Given the description of an element on the screen output the (x, y) to click on. 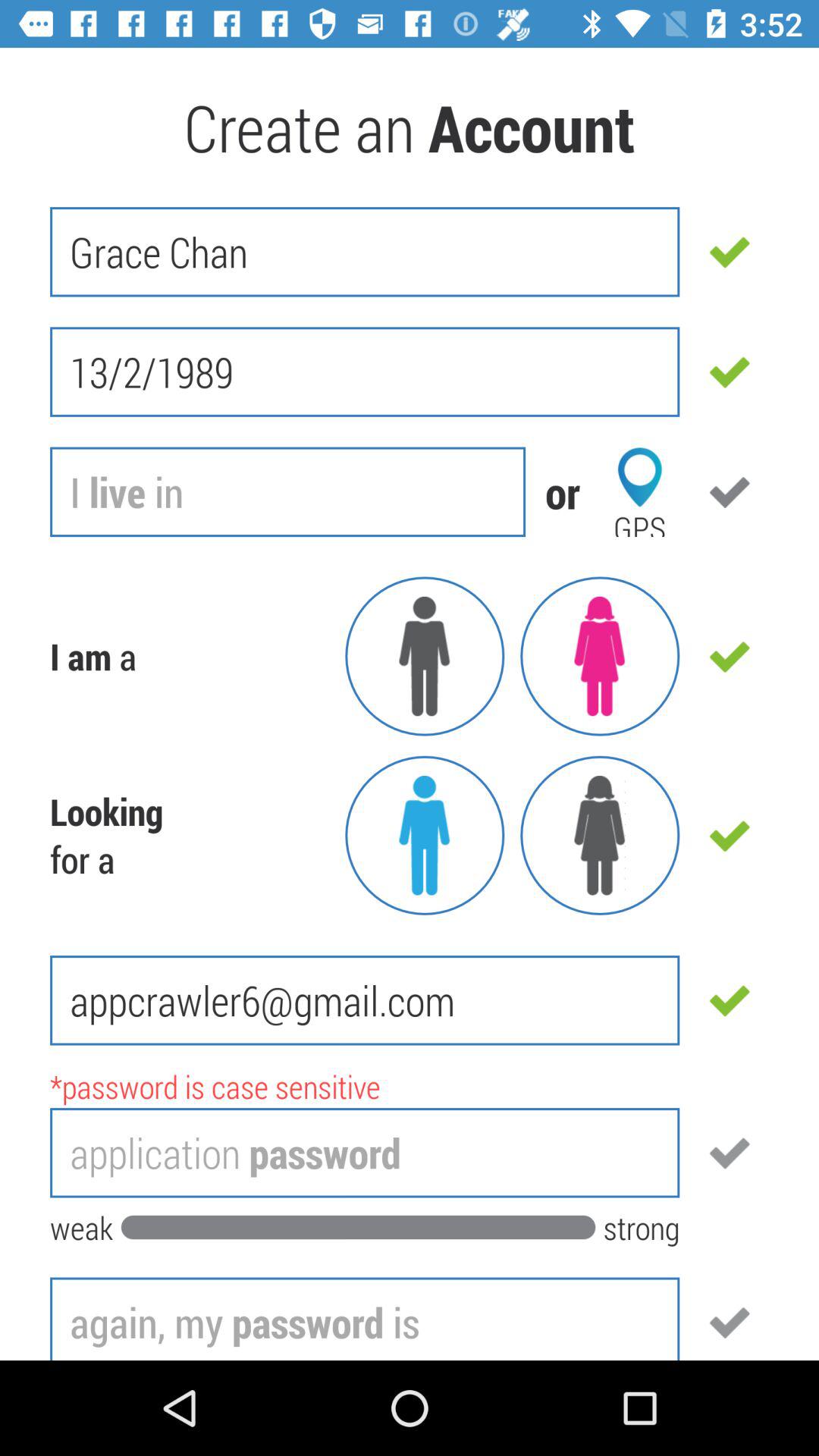
turn off the icon below weak (364, 1318)
